Given the description of an element on the screen output the (x, y) to click on. 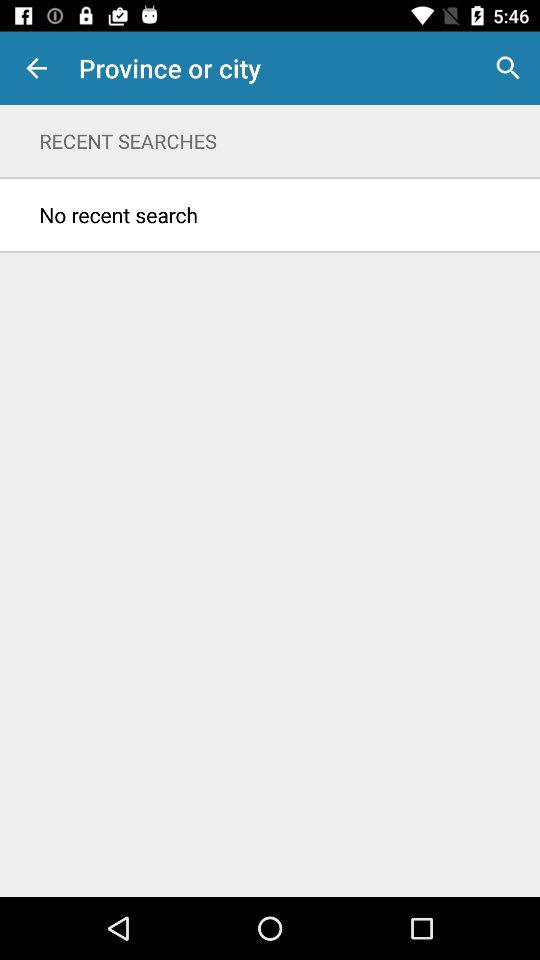
select icon to the right of the province or city app (508, 67)
